Given the description of an element on the screen output the (x, y) to click on. 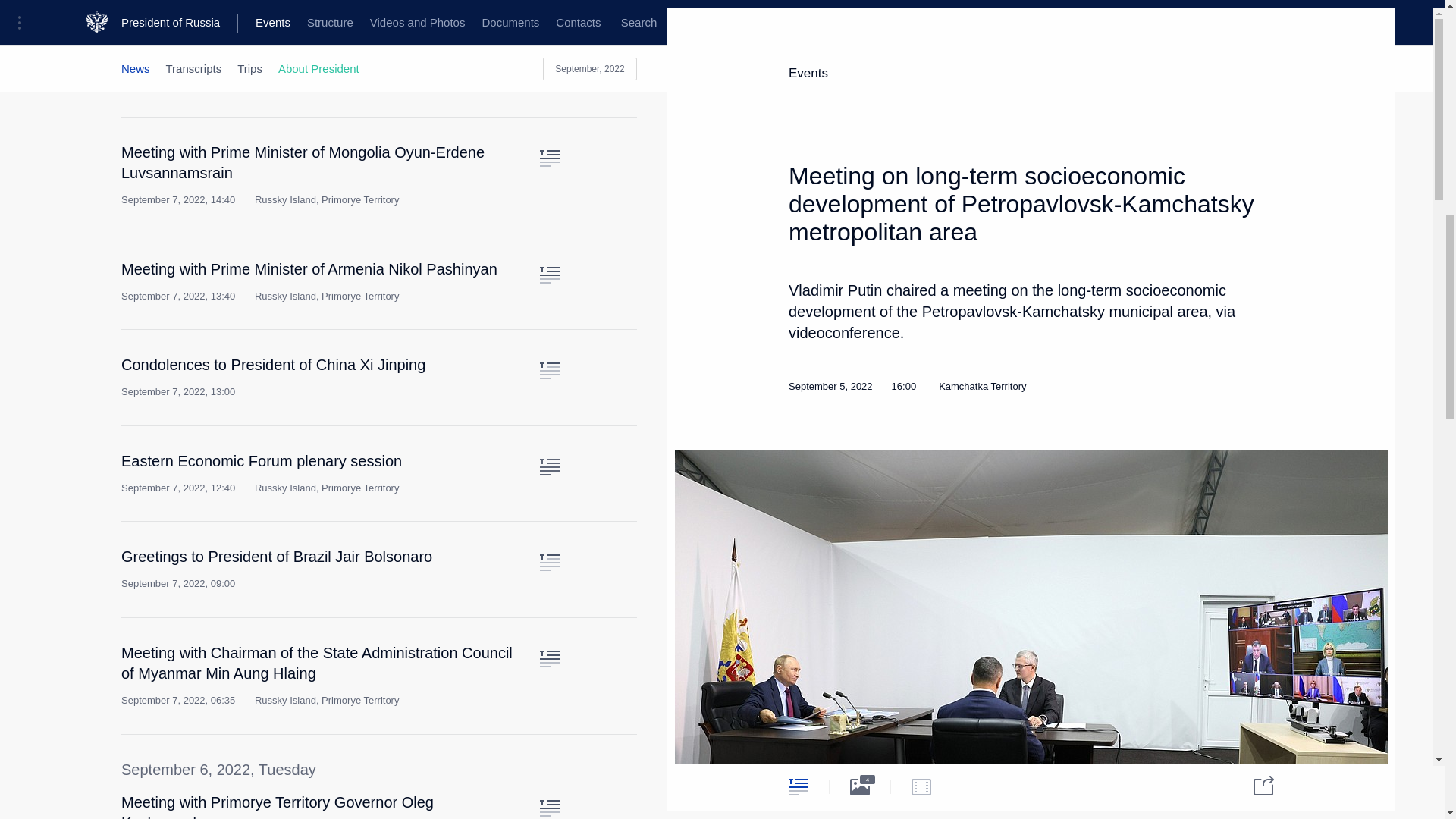
Text of the article (549, 370)
Text of the article (549, 466)
Text of the article (549, 158)
Text of the article (549, 42)
Text of the article (549, 562)
Text of the article (549, 274)
Text of the article (549, 808)
